Given the description of an element on the screen output the (x, y) to click on. 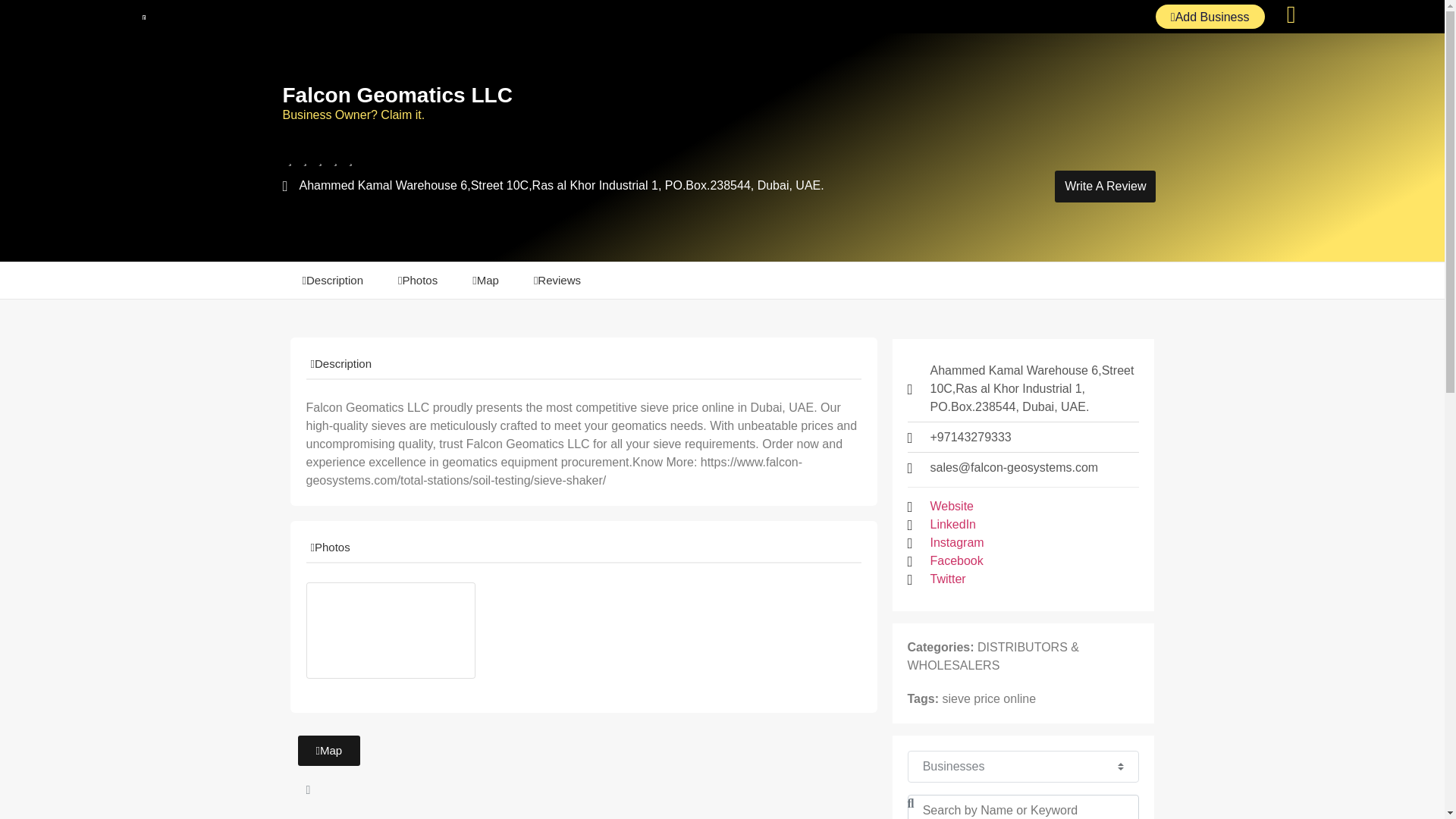
Add Business (1210, 16)
Map (328, 750)
Description (342, 363)
No Reviews (393, 159)
Business Owner? Claim it. (353, 114)
Facebook (956, 561)
Write A Review (1105, 186)
Twitter (947, 579)
Photos (419, 280)
Website (952, 506)
No rating yet! (320, 159)
Description (334, 280)
Instagram (957, 542)
LinkedIn (952, 524)
